Given the description of an element on the screen output the (x, y) to click on. 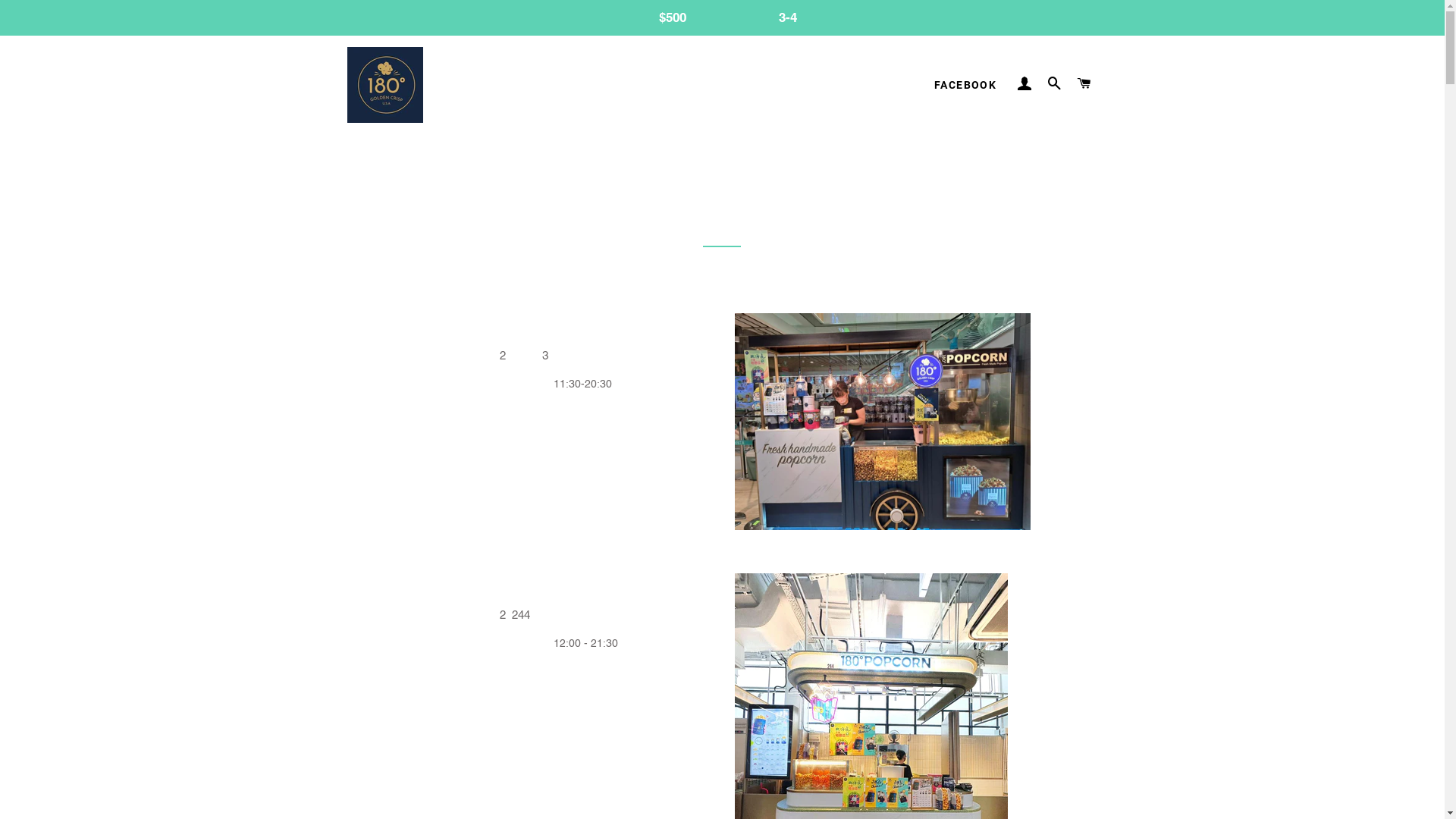
FACEBOOK Element type: text (964, 85)
